Given the description of an element on the screen output the (x, y) to click on. 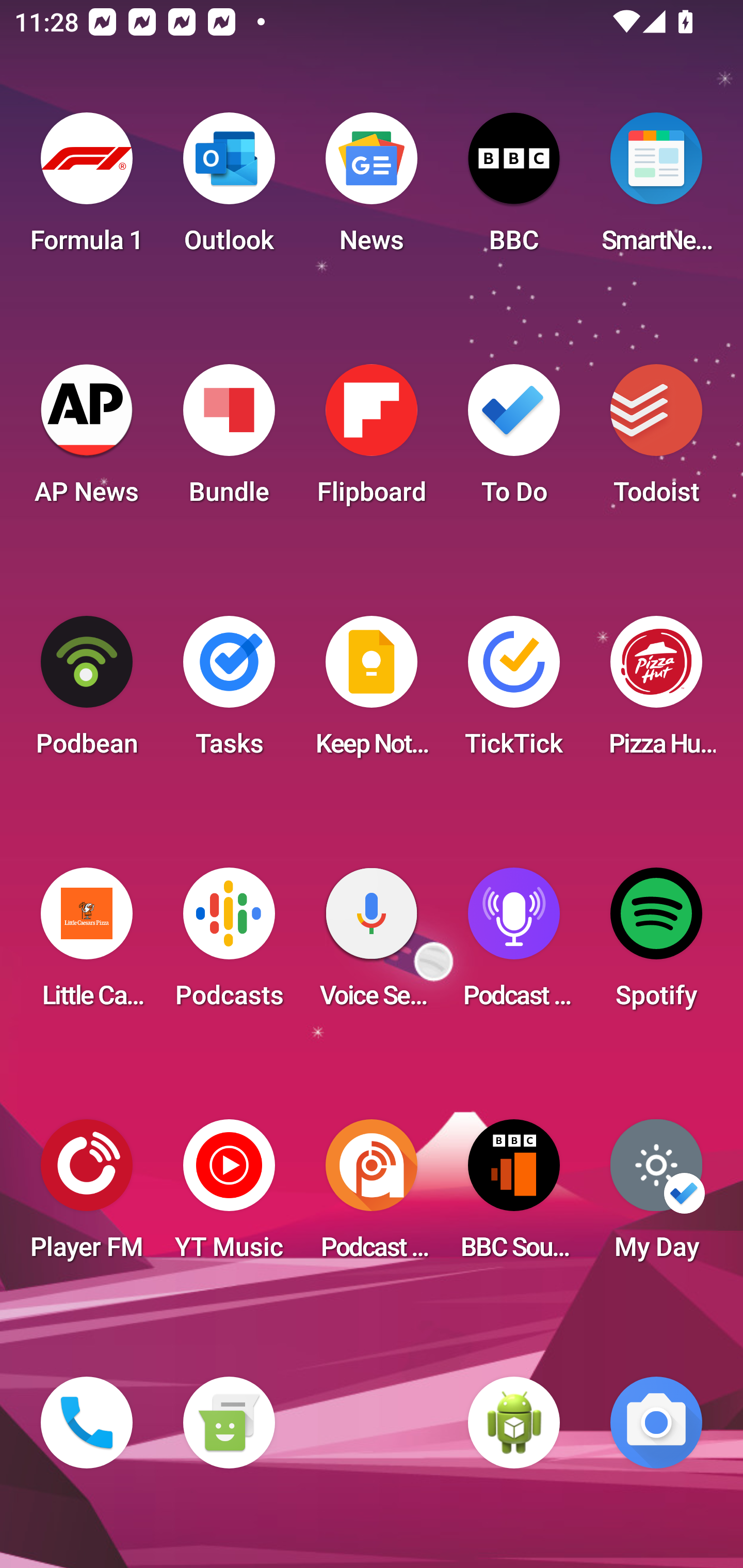
Formula 1 (86, 188)
Outlook (228, 188)
News (371, 188)
BBC (513, 188)
SmartNews (656, 188)
AP News (86, 440)
Bundle (228, 440)
Flipboard (371, 440)
To Do (513, 440)
Todoist (656, 440)
Podbean (86, 692)
Tasks (228, 692)
Keep Notes (371, 692)
TickTick (513, 692)
Pizza Hut HK & Macau (656, 692)
Little Caesars Pizza (86, 943)
Podcasts (228, 943)
Voice Search (371, 943)
Podcast Player (513, 943)
Spotify (656, 943)
Player FM (86, 1195)
YT Music (228, 1195)
Podcast Addict (371, 1195)
BBC Sounds (513, 1195)
My Day (656, 1195)
Phone (86, 1422)
Messaging (228, 1422)
WebView Browser Tester (513, 1422)
Camera (656, 1422)
